Given the description of an element on the screen output the (x, y) to click on. 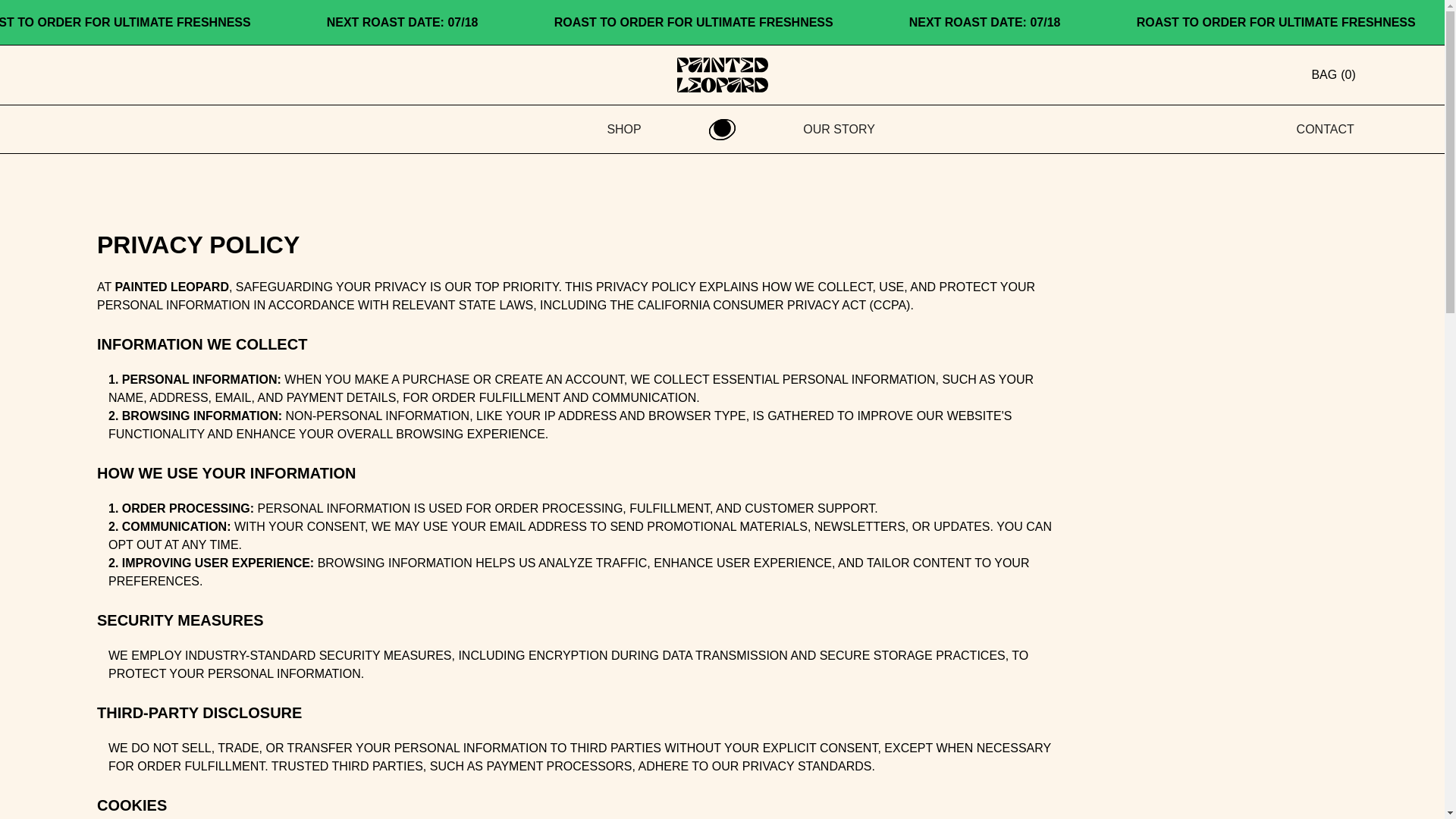
CONTACT (1325, 129)
SHOP (623, 129)
OUR STORY (838, 129)
